Given the description of an element on the screen output the (x, y) to click on. 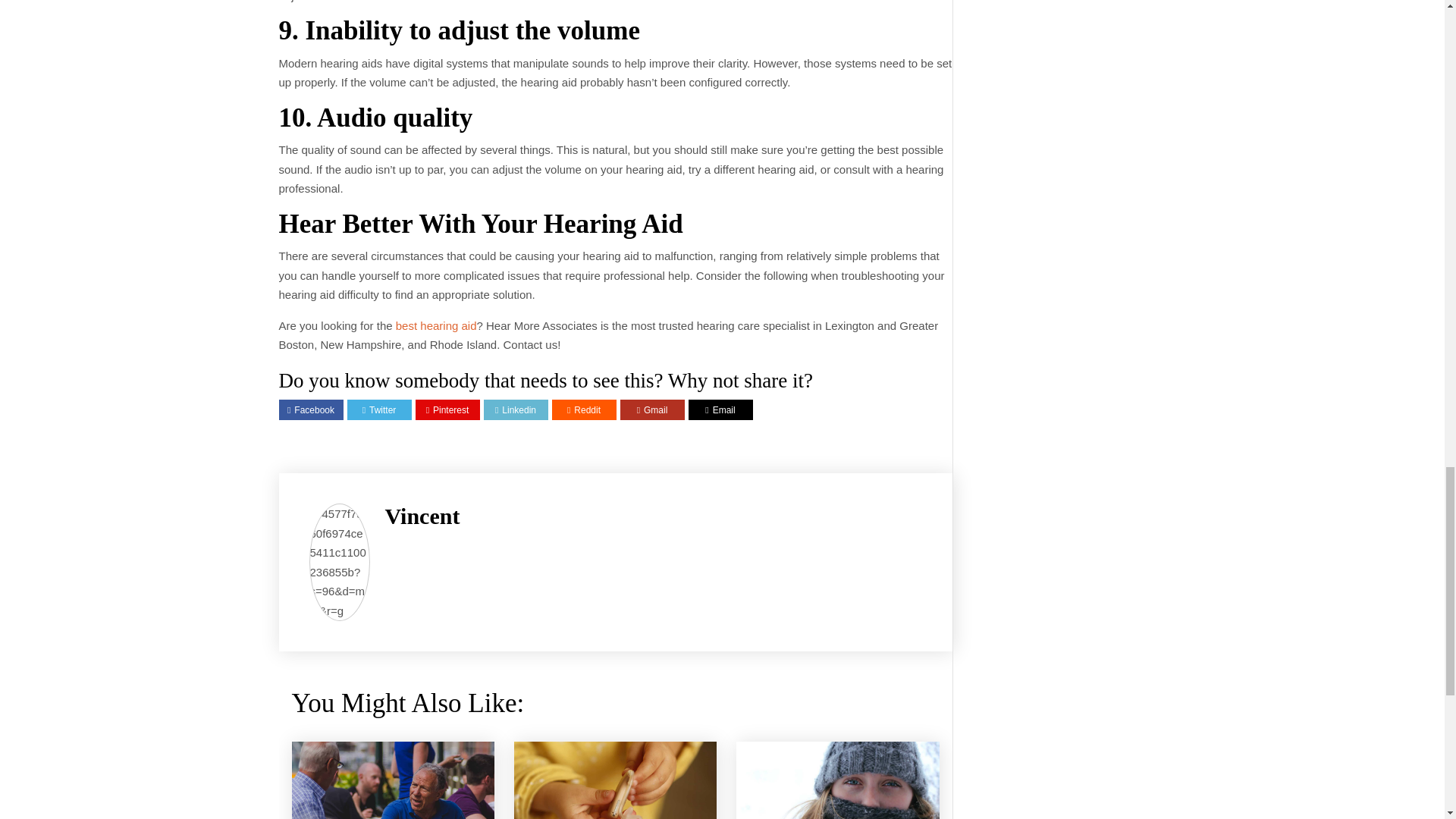
Share on Linkedin (515, 409)
Share on Pinterest (447, 409)
Share on Twitter (379, 409)
Share on Reddit (583, 409)
Share on Facebook (310, 409)
Email to someone (719, 409)
Email to someone (652, 409)
